Given the description of an element on the screen output the (x, y) to click on. 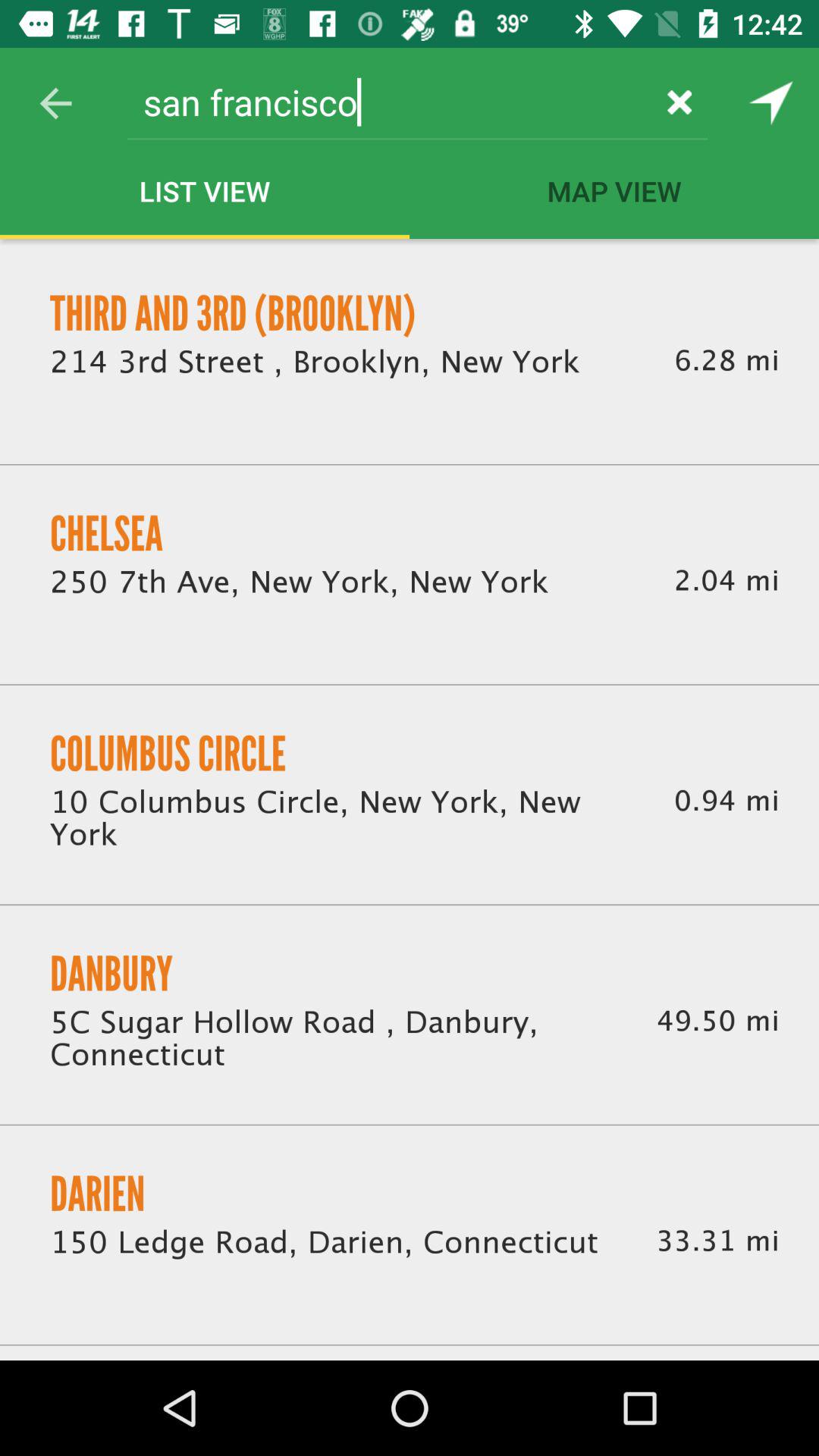
open item above chelsea icon (315, 362)
